Given the description of an element on the screen output the (x, y) to click on. 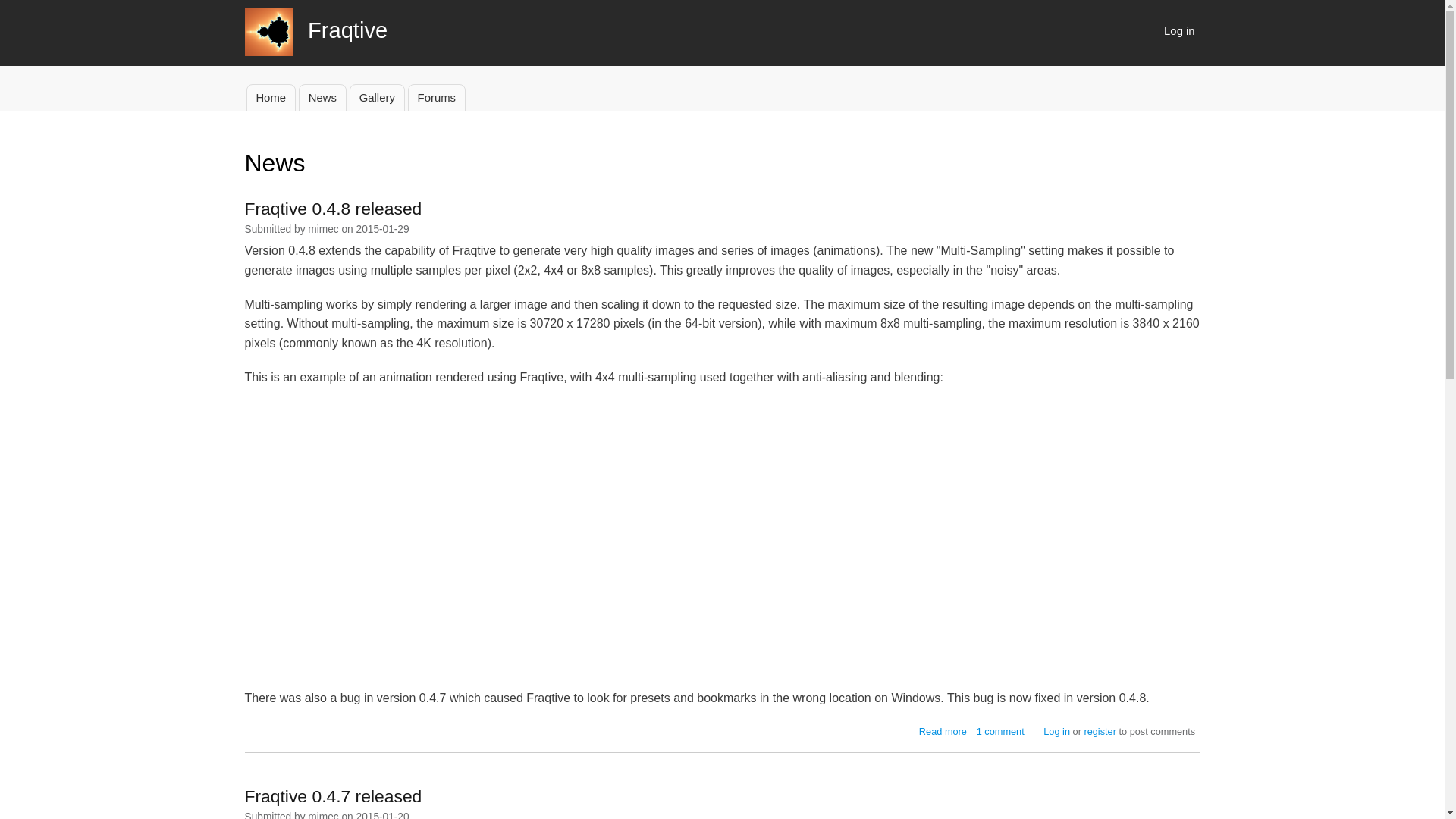
Log in (1179, 30)
Jump to the first comment. (942, 731)
1 comment (1000, 731)
Home (1000, 731)
Fraqtive 0.4.8 released (270, 97)
Home (333, 208)
Forums (323, 51)
Gallery (436, 97)
Log in (376, 97)
Fraqtive 0.4.8 released (1056, 731)
News (942, 731)
Skip to main content (322, 97)
register (722, 1)
Fraqtive (1099, 731)
